Given the description of an element on the screen output the (x, y) to click on. 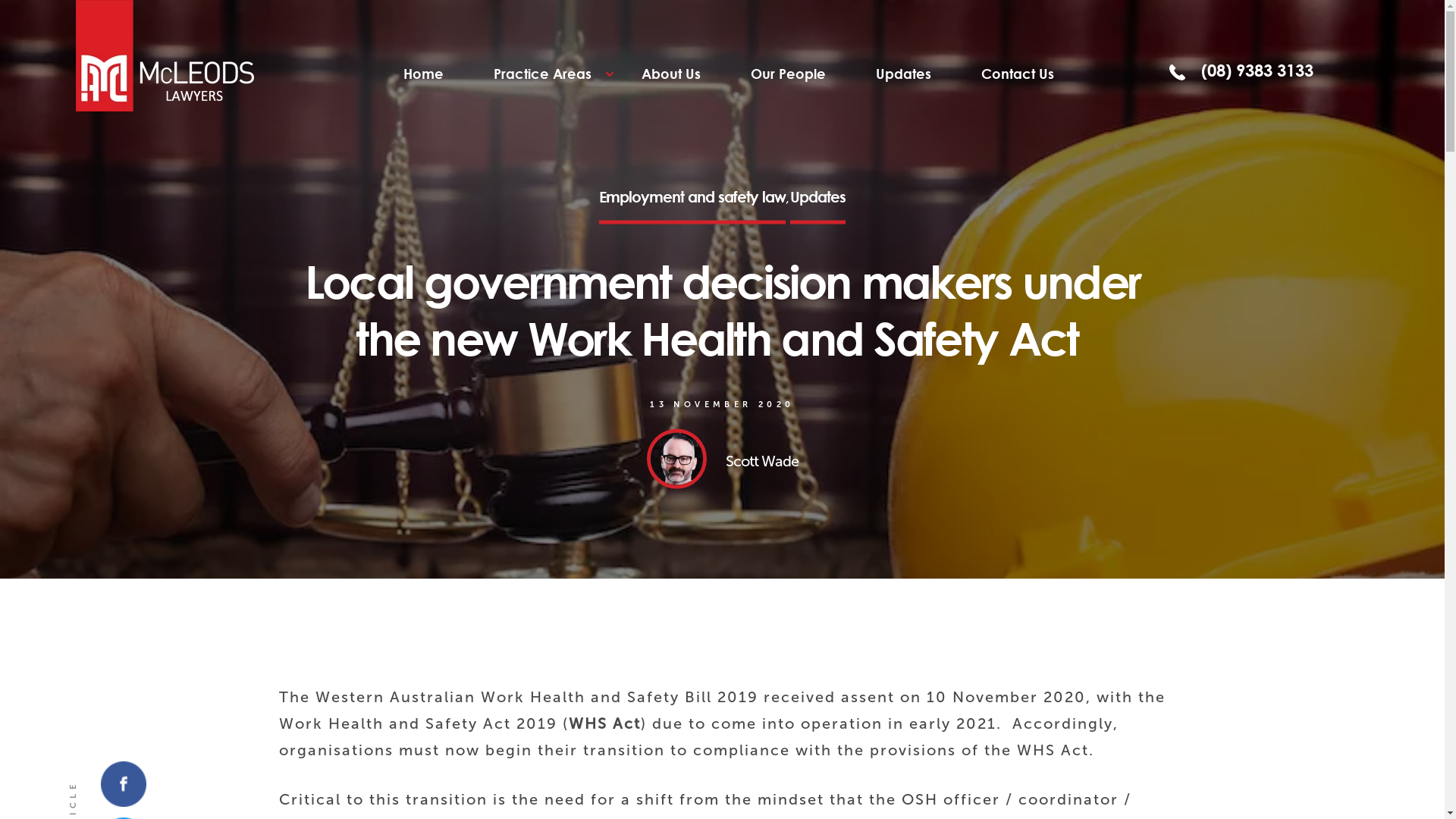
Home Element type: text (423, 73)
Practice Areas Element type: text (542, 73)
Employment and safety law Element type: text (692, 205)
Updates Element type: text (817, 205)
Updates Element type: text (903, 73)
About Us Element type: text (670, 73)
Scott Wade Element type: text (721, 460)
McLEODS Lawyers_white-235 (1) Element type: hover (164, 55)
Our People Element type: text (788, 73)
Contact Us Element type: text (1017, 73)
(08) 9383 3133 Element type: text (1233, 69)
